Given the description of an element on the screen output the (x, y) to click on. 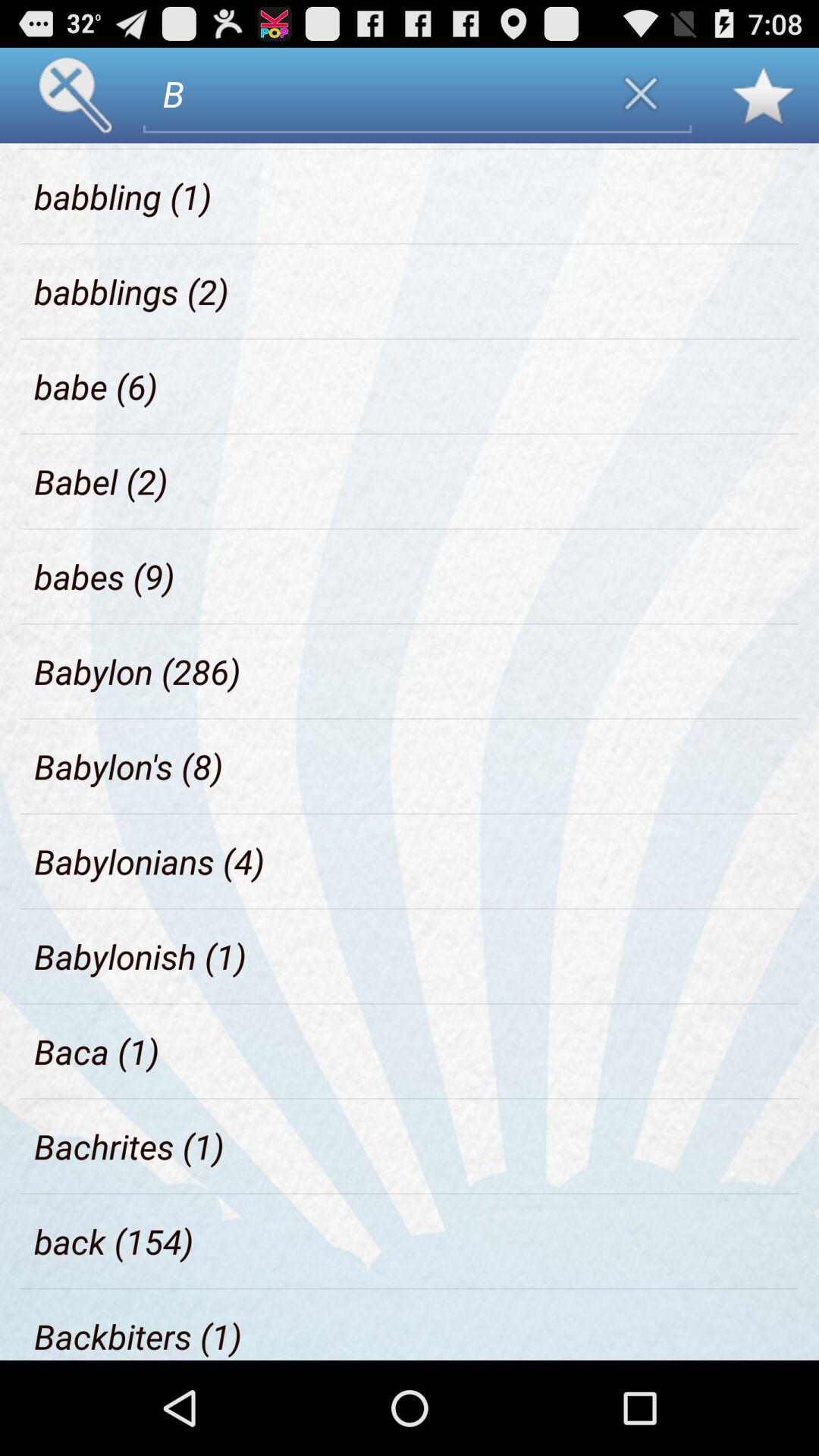
press babes (9) app (104, 576)
